Given the description of an element on the screen output the (x, y) to click on. 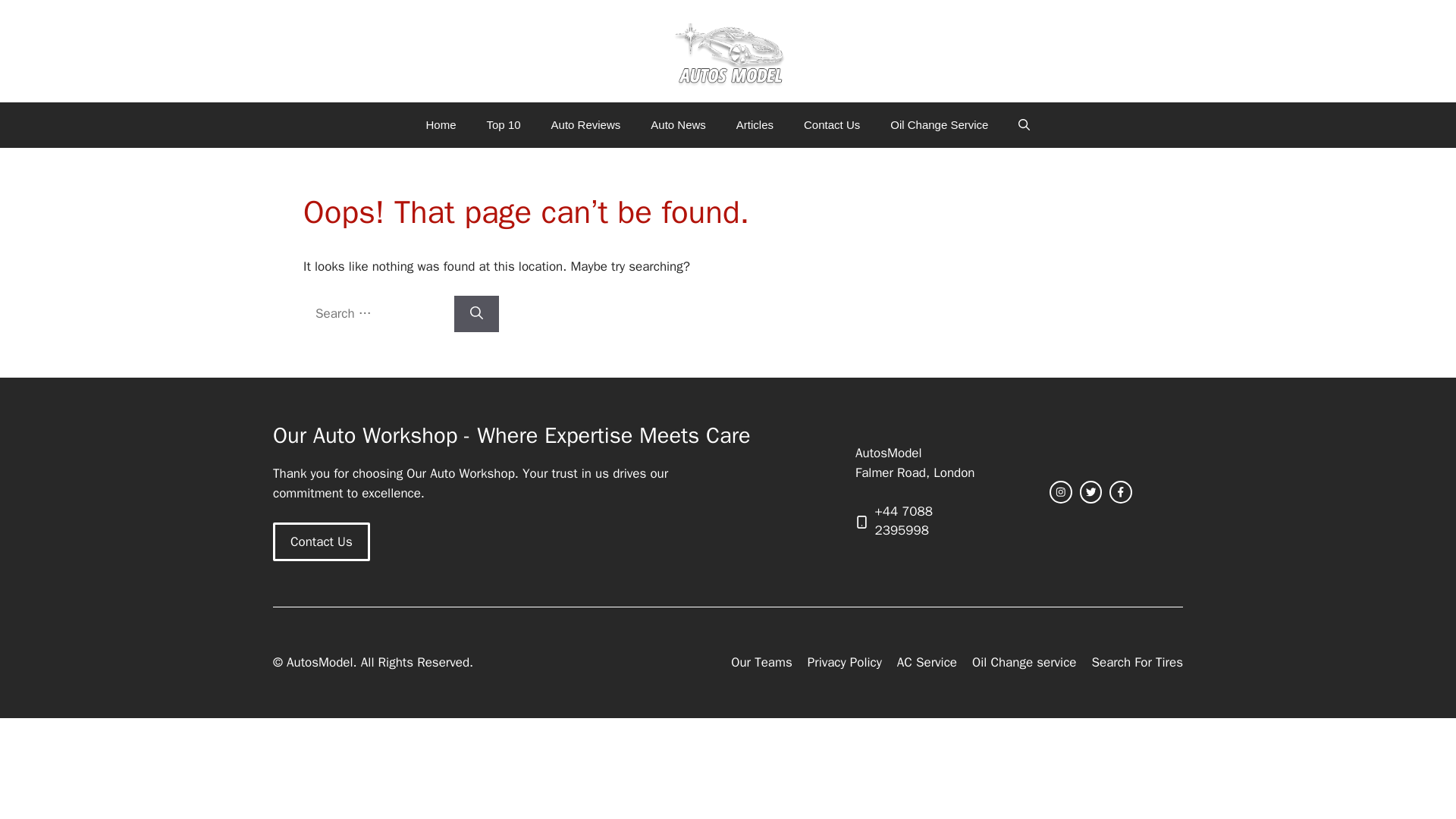
Contact Us (832, 125)
Privacy Policy (845, 662)
Contact Us (321, 541)
Top 10 (503, 125)
Home (440, 125)
Search for: (375, 313)
Oil Change Service (939, 125)
AC Service (926, 662)
Oil Change service (1024, 662)
Auto News (677, 125)
Search For Tires (1136, 662)
Articles (754, 125)
Auto Reviews (585, 125)
Our Teams (761, 662)
